Given the description of an element on the screen output the (x, y) to click on. 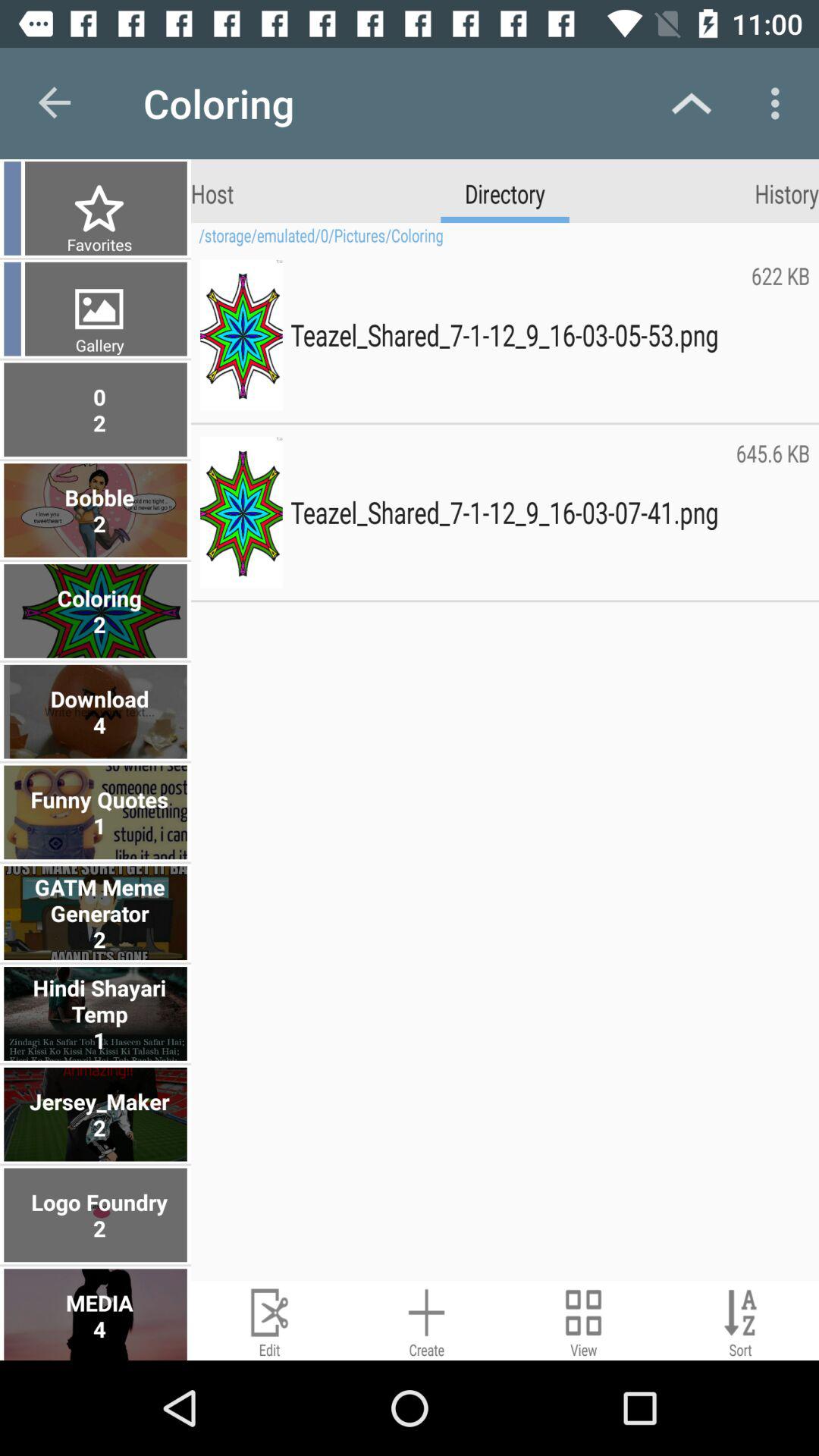
tap the 622 kb item (780, 334)
